Given the description of an element on the screen output the (x, y) to click on. 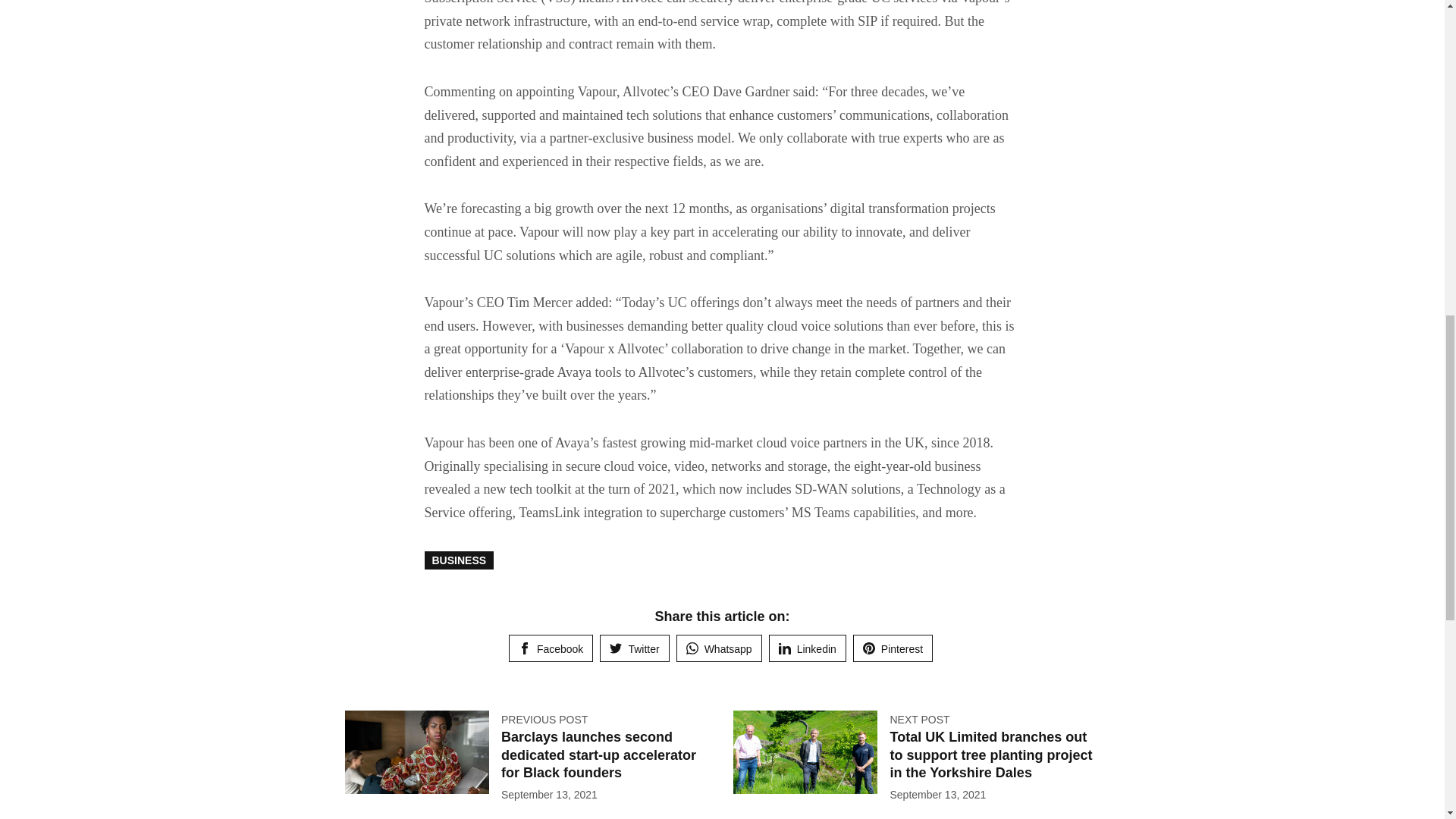
13 September, 2021 (548, 794)
Linkedin (806, 647)
PREVIOUS POST (544, 719)
Twitter (633, 647)
Share on Linkedin (806, 647)
NEXT POST (919, 719)
Share on Pinterest (893, 647)
Share on Facebook (550, 647)
Share on Whatsapp (719, 647)
